Given the description of an element on the screen output the (x, y) to click on. 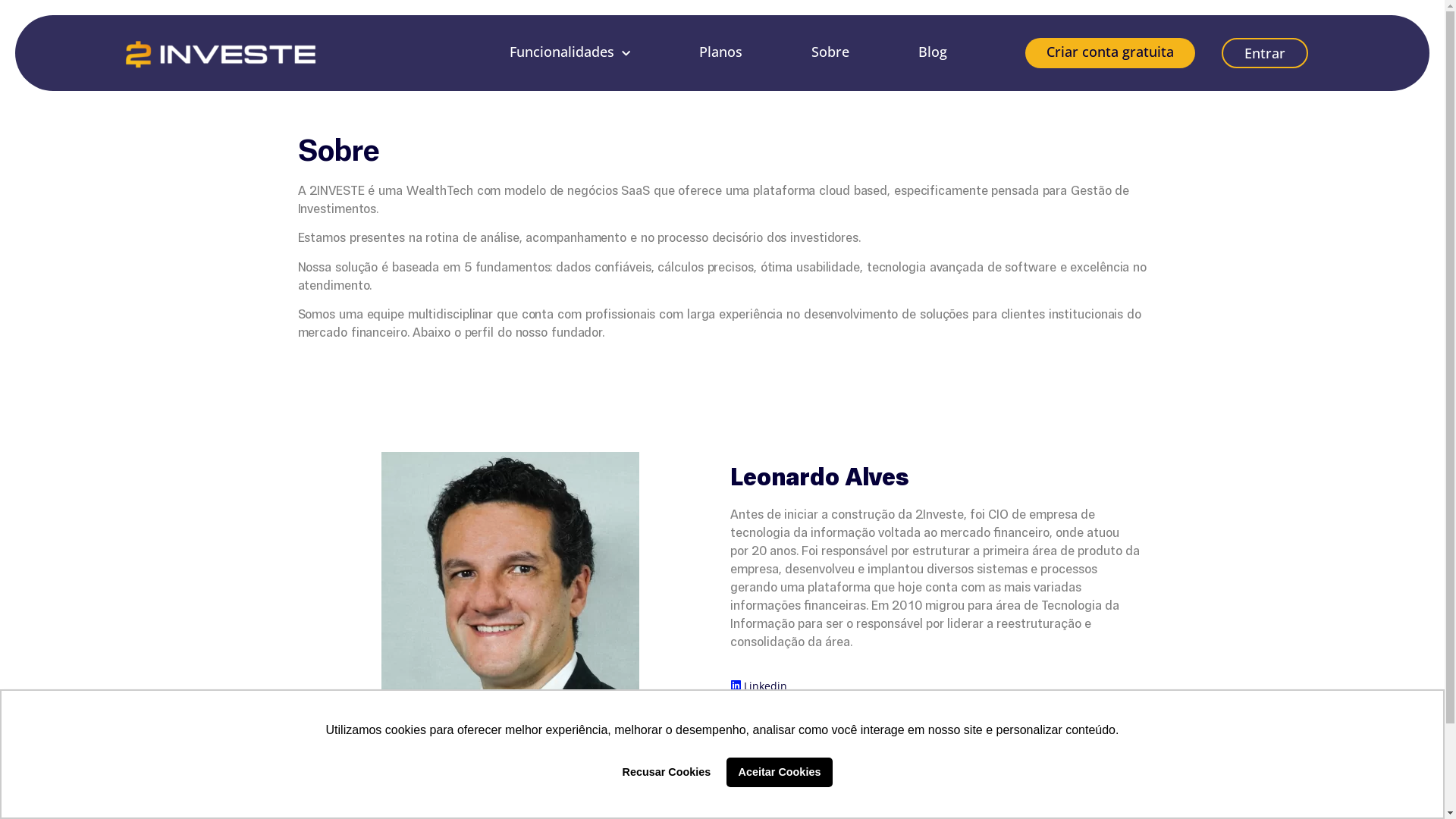
Entrar Element type: text (1264, 52)
Criar conta gratuita Element type: text (1110, 51)
Recusar Cookies Element type: text (666, 771)
Blog Element type: text (932, 51)
Linkedin Element type: text (764, 685)
leo Element type: hover (509, 588)
Sobre Element type: text (830, 51)
Funcionalidades Element type: text (569, 51)
Planos Element type: text (720, 51)
Aceitar Cookies Element type: text (779, 771)
